Given the description of an element on the screen output the (x, y) to click on. 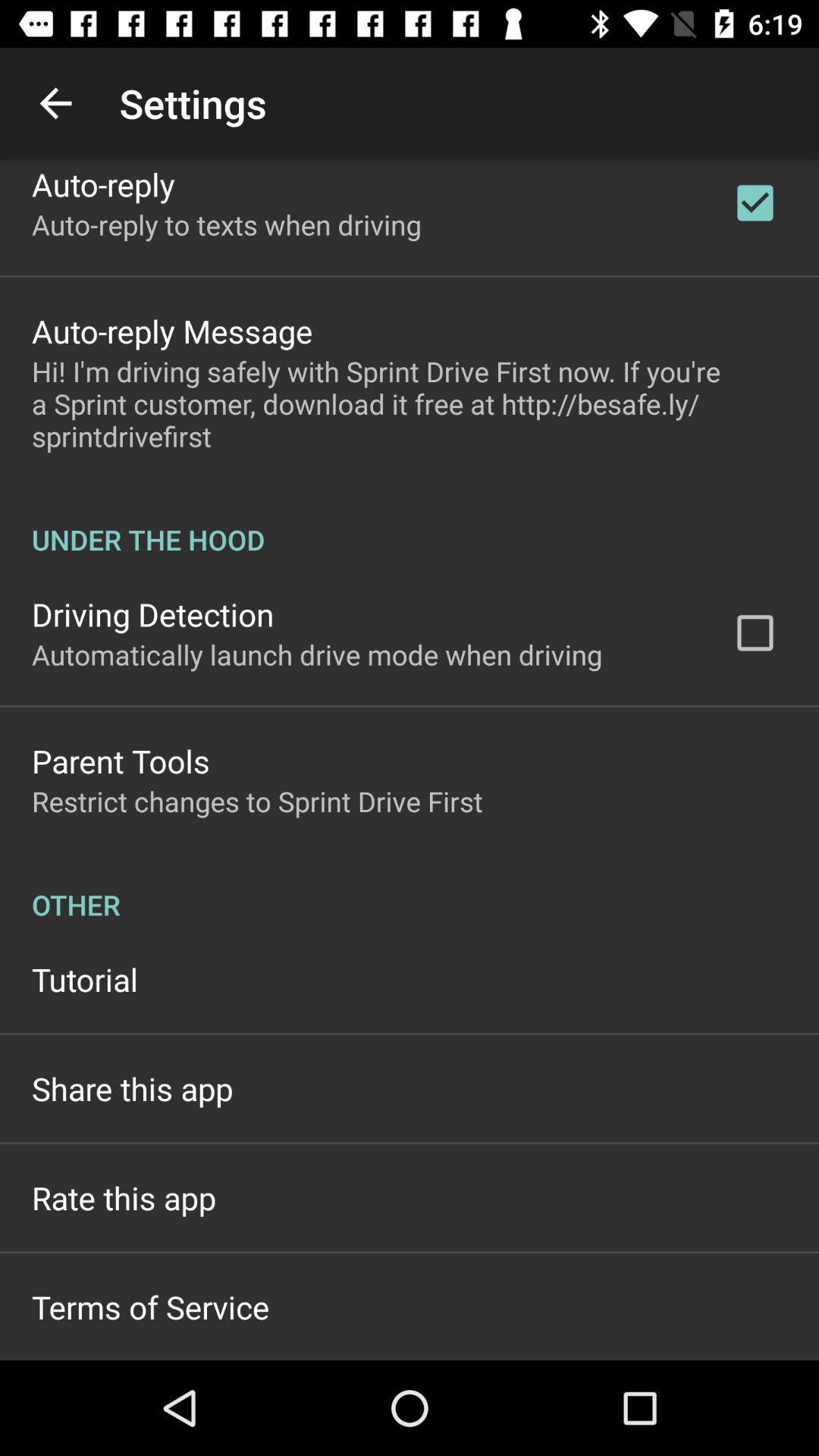
click automatically launch drive item (316, 654)
